Given the description of an element on the screen output the (x, y) to click on. 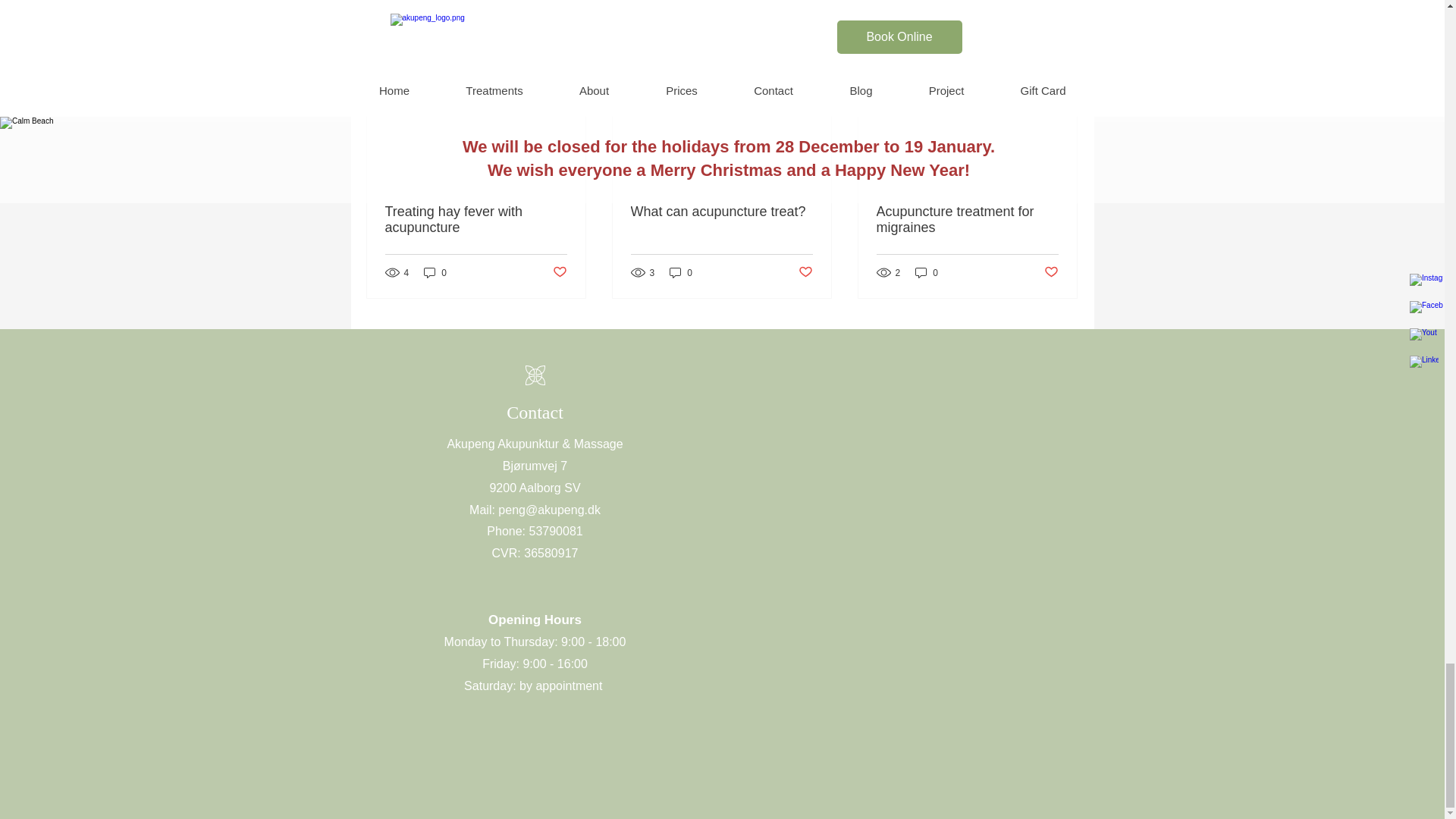
See All (1061, 35)
Treating hay fever with acupuncture (476, 219)
Post not marked as liked (558, 272)
0 (435, 272)
